Given the description of an element on the screen output the (x, y) to click on. 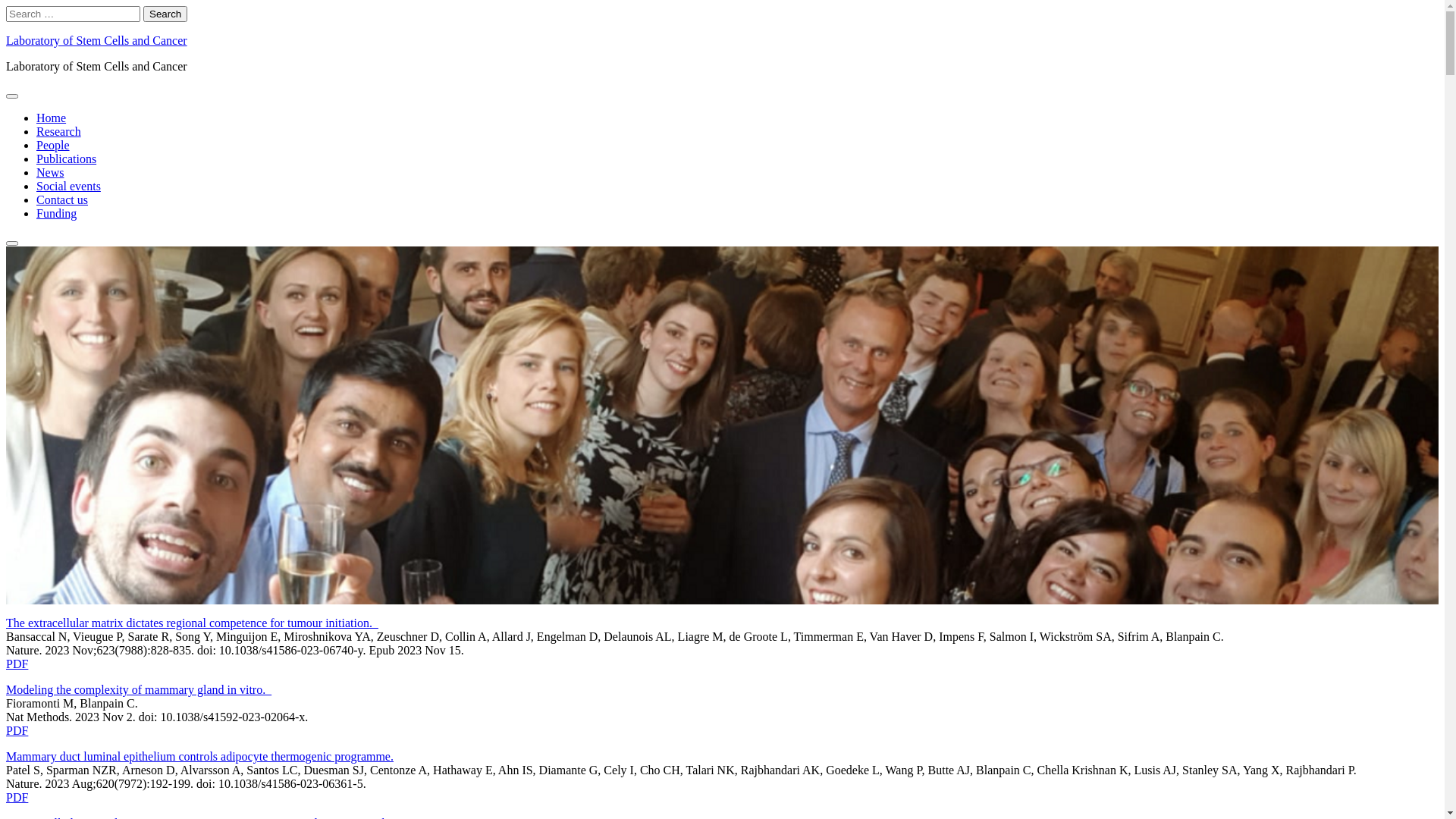
People Element type: text (52, 144)
Home Element type: text (50, 117)
Contact us Element type: text (61, 199)
Skip to content Element type: text (5, 5)
Modeling the complexity of mammary gland in vitro.   Element type: text (138, 689)
Laboratory of Stem Cells and Cancer Element type: text (96, 40)
Funding Element type: text (56, 213)
Search Element type: text (12, 243)
Social events 1 Element type: hover (722, 425)
Research Element type: text (58, 131)
Publications Element type: text (66, 158)
Social events Element type: text (68, 185)
PDF Element type: text (17, 663)
Search Element type: text (165, 13)
News Element type: text (49, 172)
PDF Element type: text (17, 730)
PDF Element type: text (17, 796)
